Given the description of an element on the screen output the (x, y) to click on. 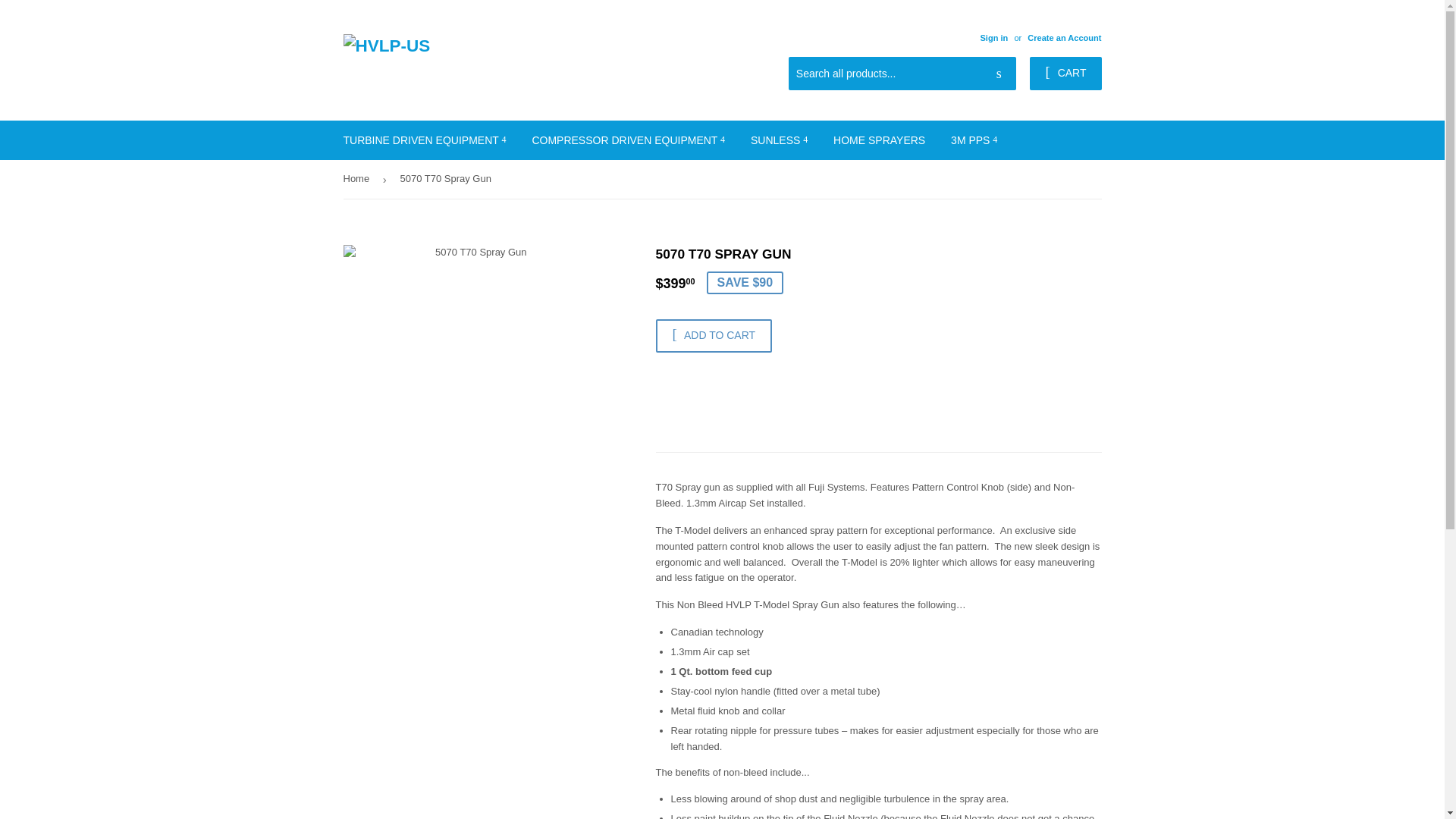
CART (1064, 73)
Back to the frontpage (358, 179)
Create an Account (1063, 37)
COMPRESSOR DRIVEN EQUIPMENT (627, 139)
TURBINE DRIVEN EQUIPMENT (424, 139)
Search (998, 74)
Sign in (993, 37)
